Given the description of an element on the screen output the (x, y) to click on. 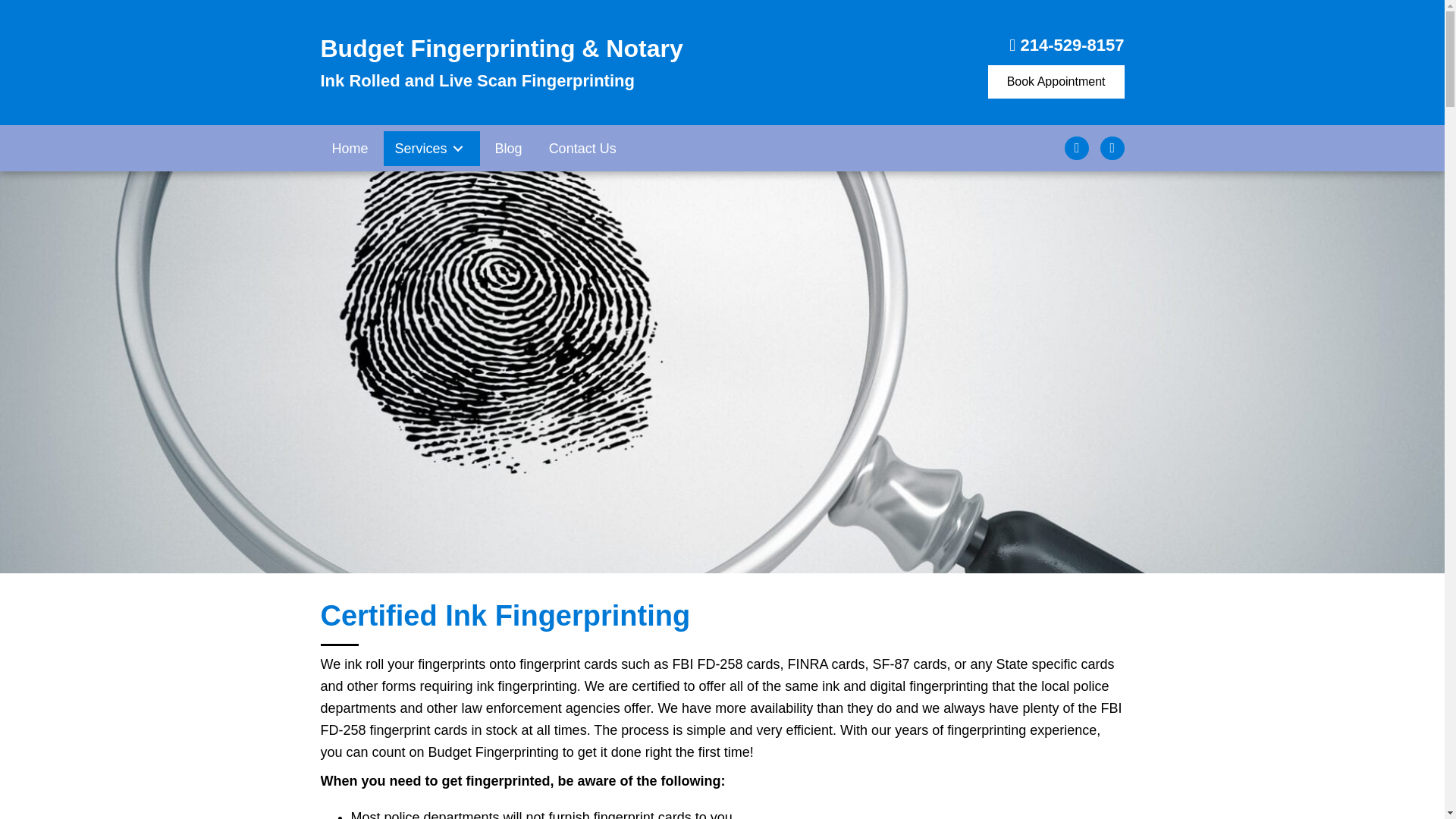
214-529-8157 (1072, 45)
Book Appointment (1056, 81)
Services (432, 147)
Blog (508, 147)
Home (349, 147)
Contact Us (582, 147)
